Given the description of an element on the screen output the (x, y) to click on. 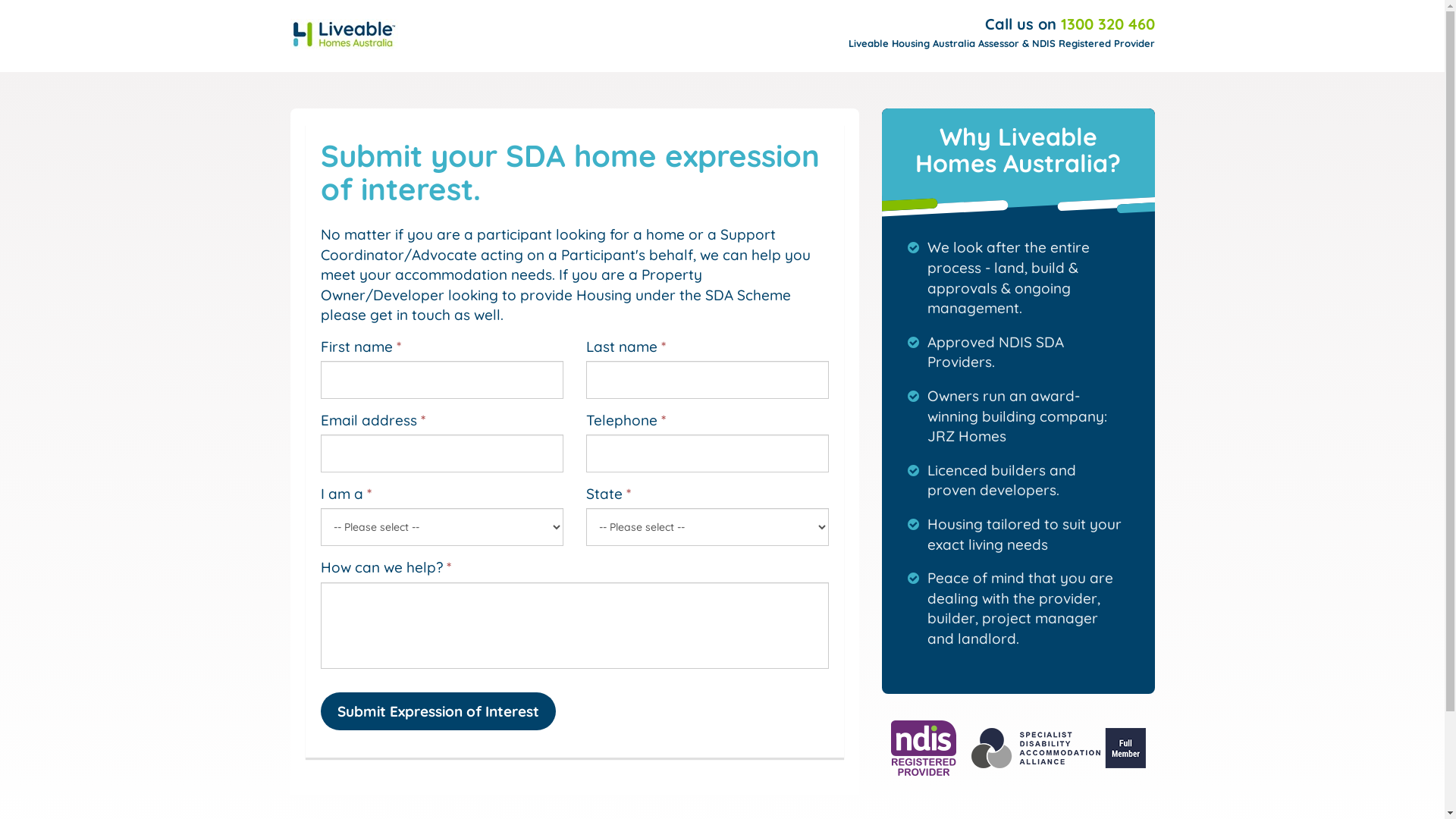
Liveable Homes Australia Element type: text (343, 33)
1300 320 460 Element type: text (1107, 23)
Submit Expression of Interest Element type: text (437, 711)
NDIS Registered Provider Element type: hover (922, 747)
